Given the description of an element on the screen output the (x, y) to click on. 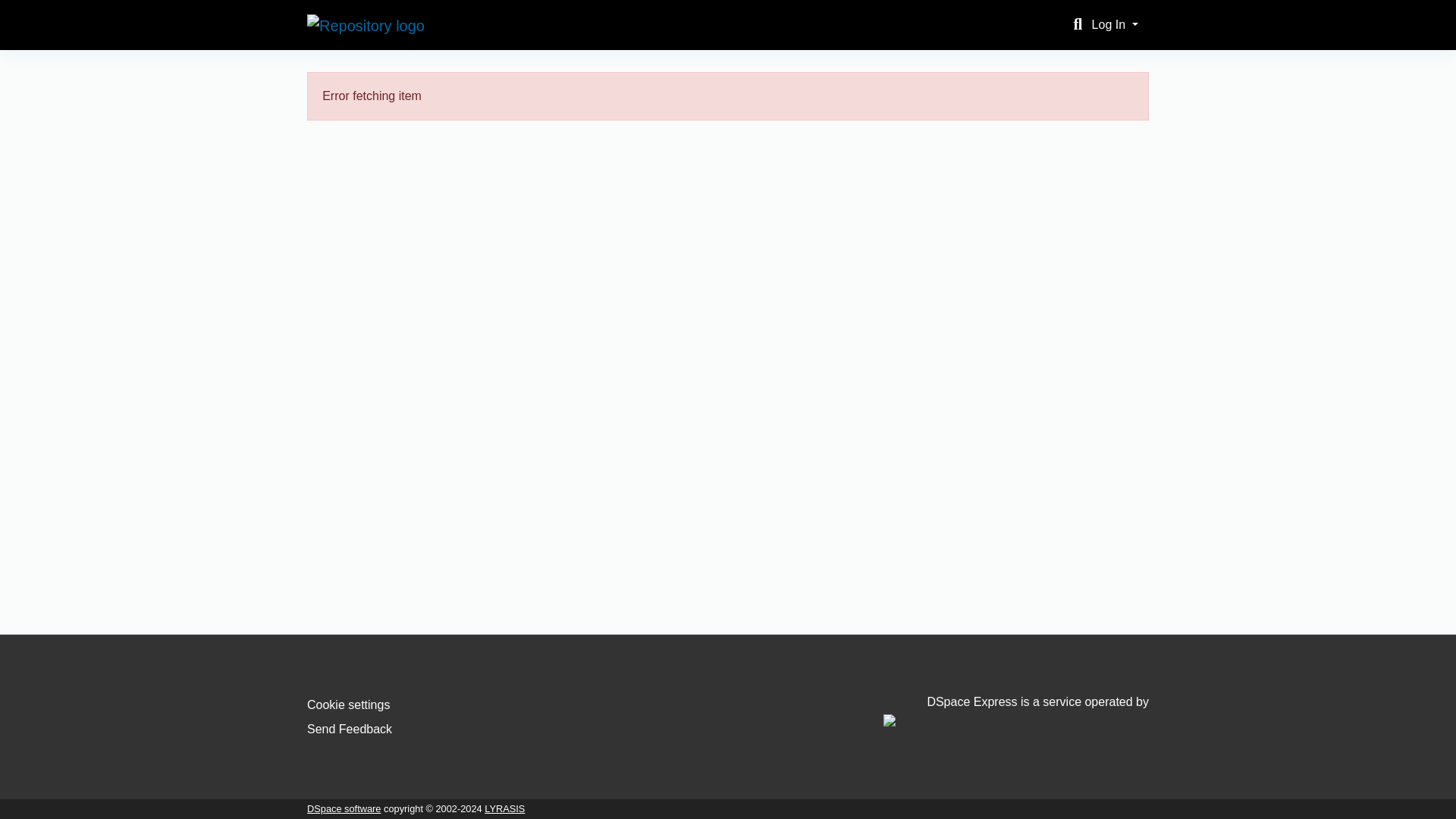
DSpace Express is a service operated by (1015, 711)
LYRASIS (504, 808)
Search (1077, 24)
Send Feedback (349, 728)
Cookie settings (348, 704)
DSpace software (343, 808)
Log In (1114, 24)
